Given the description of an element on the screen output the (x, y) to click on. 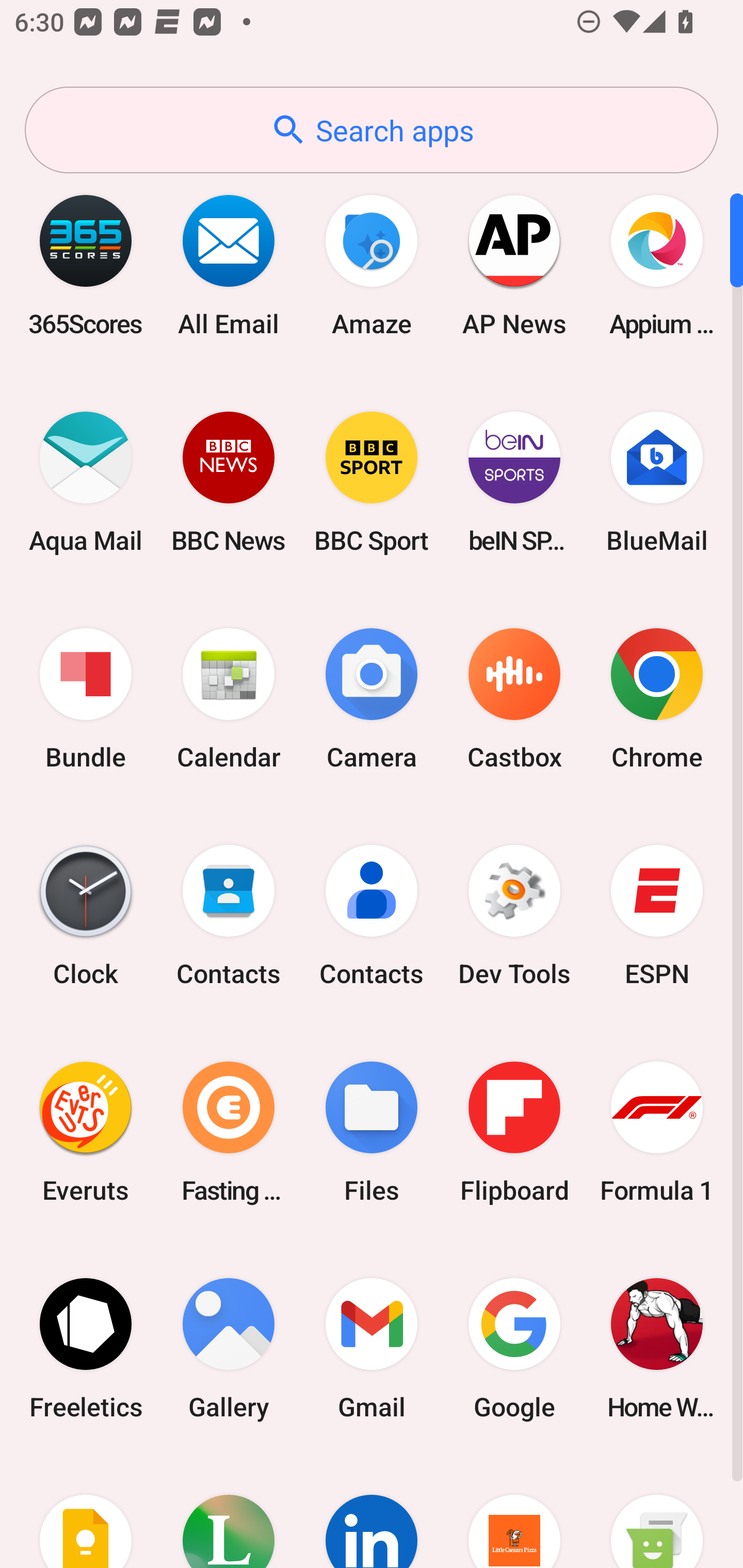
  Search apps (371, 130)
365Scores (85, 264)
All Email (228, 264)
Amaze (371, 264)
AP News (514, 264)
Appium Settings (656, 264)
Aqua Mail (85, 482)
BBC News (228, 482)
BBC Sport (371, 482)
beIN SPORTS (514, 482)
BlueMail (656, 482)
Bundle (85, 699)
Calendar (228, 699)
Camera (371, 699)
Castbox (514, 699)
Chrome (656, 699)
Clock (85, 915)
Contacts (228, 915)
Contacts (371, 915)
Dev Tools (514, 915)
ESPN (656, 915)
Everuts (85, 1131)
Fasting Coach (228, 1131)
Files (371, 1131)
Flipboard (514, 1131)
Formula 1 (656, 1131)
Freeletics (85, 1348)
Gallery (228, 1348)
Gmail (371, 1348)
Google (514, 1348)
Home Workout (656, 1348)
